Given the description of an element on the screen output the (x, y) to click on. 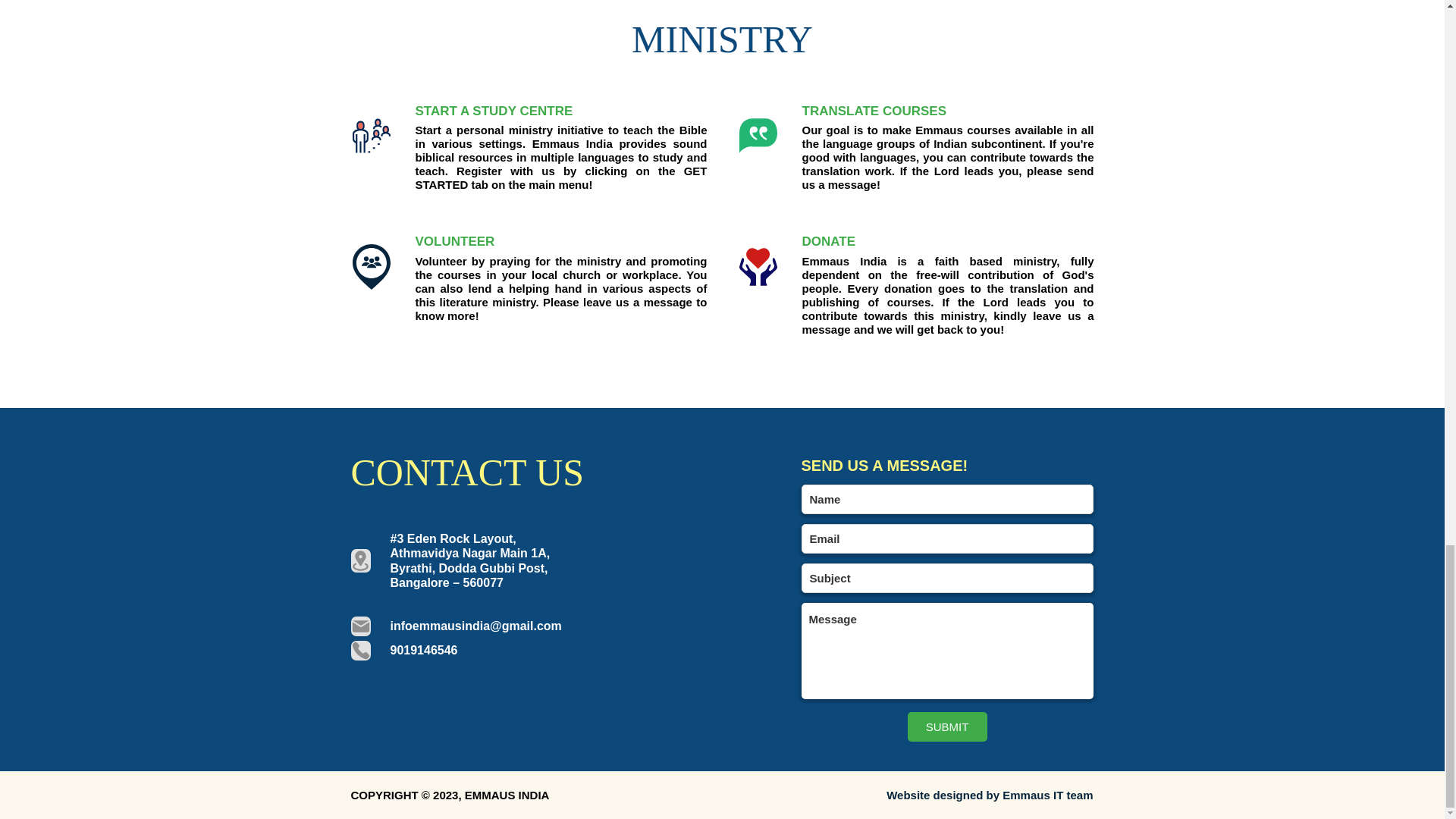
SUBMIT (947, 726)
